Given the description of an element on the screen output the (x, y) to click on. 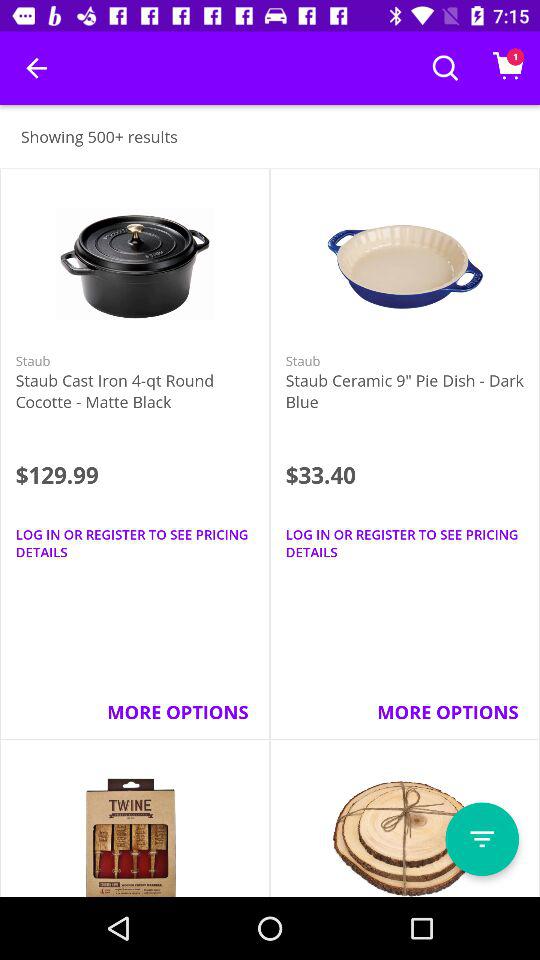
open menu (482, 839)
